Given the description of an element on the screen output the (x, y) to click on. 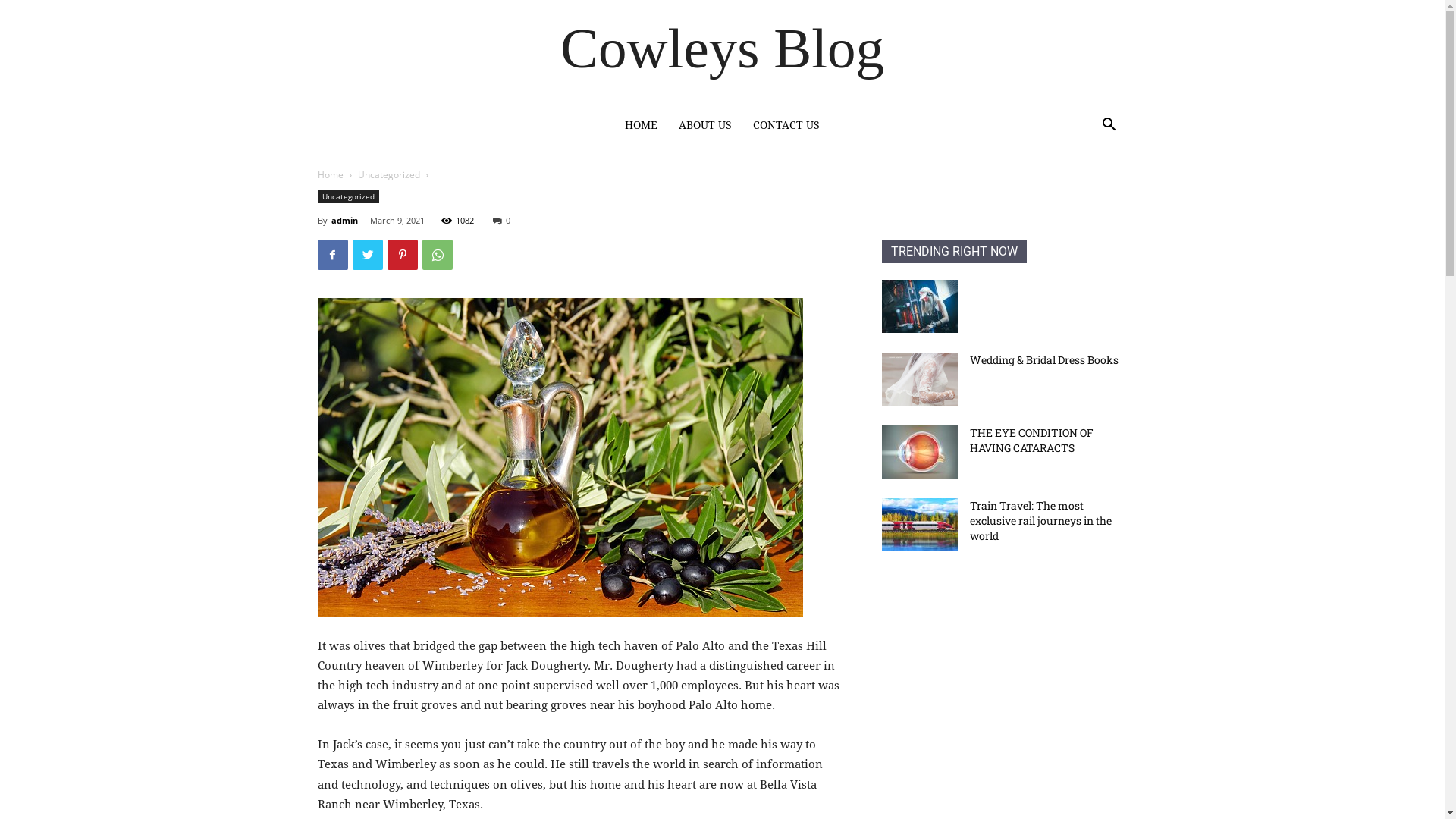
Uncategorized Element type: text (347, 196)
HOME Element type: text (641, 124)
Train Travel: The most exclusive rail journeys in the world Element type: text (1039, 520)
Search Element type: text (1085, 194)
0 Element type: text (501, 219)
ABOUT US Element type: text (705, 124)
Cowleys Blog Element type: text (722, 47)
Uncategorized Element type: text (388, 174)
THE EYE CONDITION OF HAVING CATARACTS Element type: text (1030, 440)
admin Element type: text (343, 219)
CONTACT US Element type: text (786, 124)
Train Travel: The most exclusive rail journeys in the world Element type: hover (919, 524)
olive-oil-1596417_640 Element type: hover (559, 457)
Home Element type: text (329, 174)
Wedding & Bridal Dress Books Element type: text (1043, 359)
THE EYE CONDITION OF HAVING CATARACTS Element type: hover (919, 451)
Wedding & Bridal Dress Books Element type: hover (919, 378)
